Given the description of an element on the screen output the (x, y) to click on. 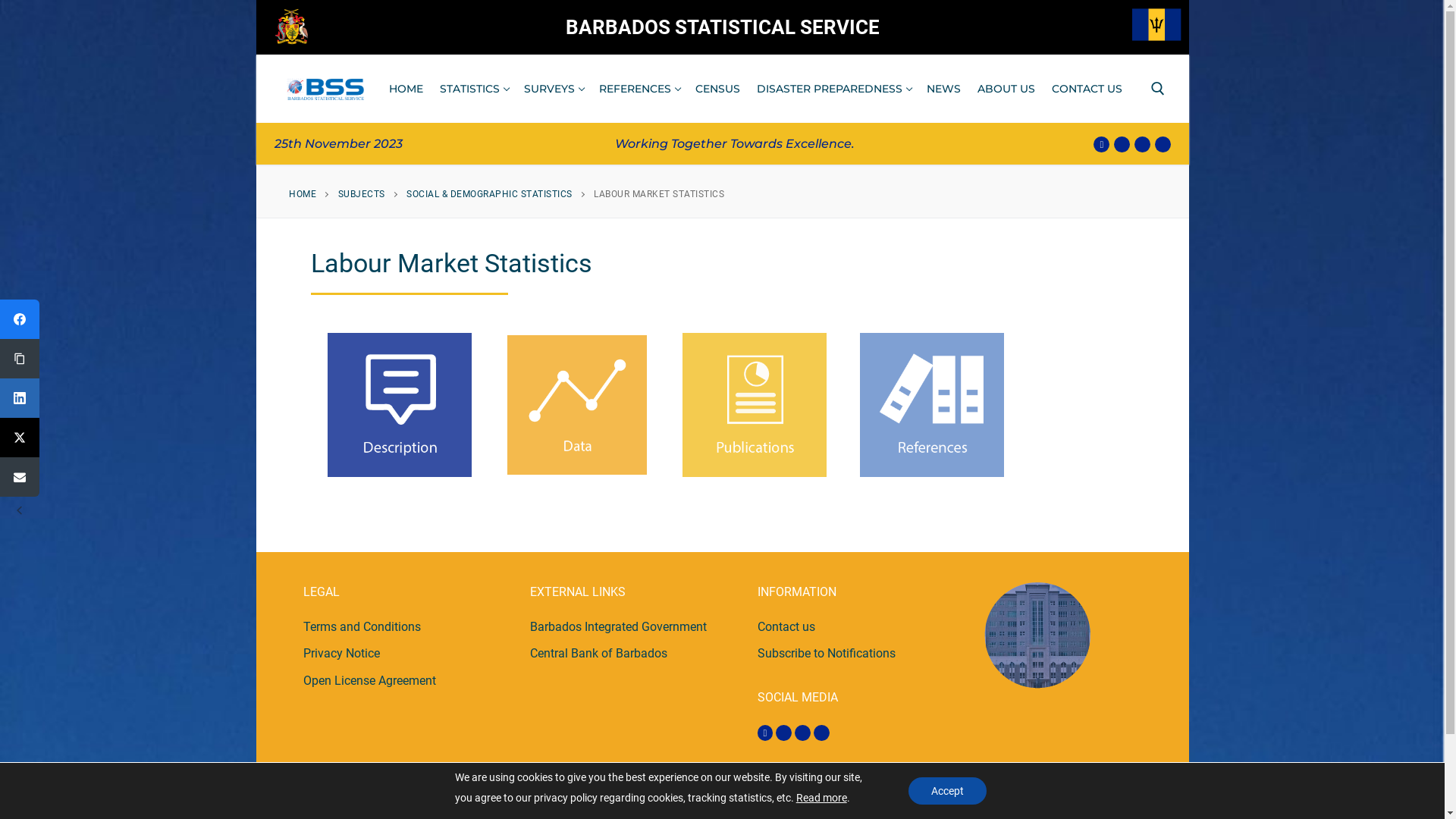
Instagram Element type: hover (1121, 144)
CONTACT US Element type: text (1086, 88)
Barbados Integrated Government Element type: text (618, 626)
REFERENCES
  Element type: text (637, 88)
Terms and Conditions Element type: text (361, 626)
SUBJECTS Element type: text (361, 193)
Privacy Notice Element type: text (341, 653)
ABOUT US Element type: text (1005, 88)
Instagram Element type: hover (783, 732)
Central Bank of Barbados Element type: text (598, 653)
STATISTICS
  Element type: text (472, 88)
HOME Element type: text (406, 88)
YouTube Element type: hover (802, 732)
RSS Element type: hover (1162, 144)
RSS Element type: hover (821, 732)
CENSUS Element type: text (717, 88)
Subscribe to Notifications Element type: text (825, 653)
Accept Element type: text (947, 790)
Skip to content Element type: text (254, 53)
SURVEYS
  Element type: text (553, 88)
SOCIAL & DEMOGRAPHIC STATISTICS Element type: text (489, 193)
NEWS Element type: text (942, 88)
HOME Element type: text (302, 193)
Contact us Element type: text (785, 626)
YouTube Element type: hover (1142, 144)
Facebook Element type: hover (1101, 144)
DISASTER PREPAREDNESS
  Element type: text (832, 88)
Read more Element type: text (821, 797)
Facebook Element type: hover (764, 732)
Open License Agreement Element type: text (369, 680)
